Given the description of an element on the screen output the (x, y) to click on. 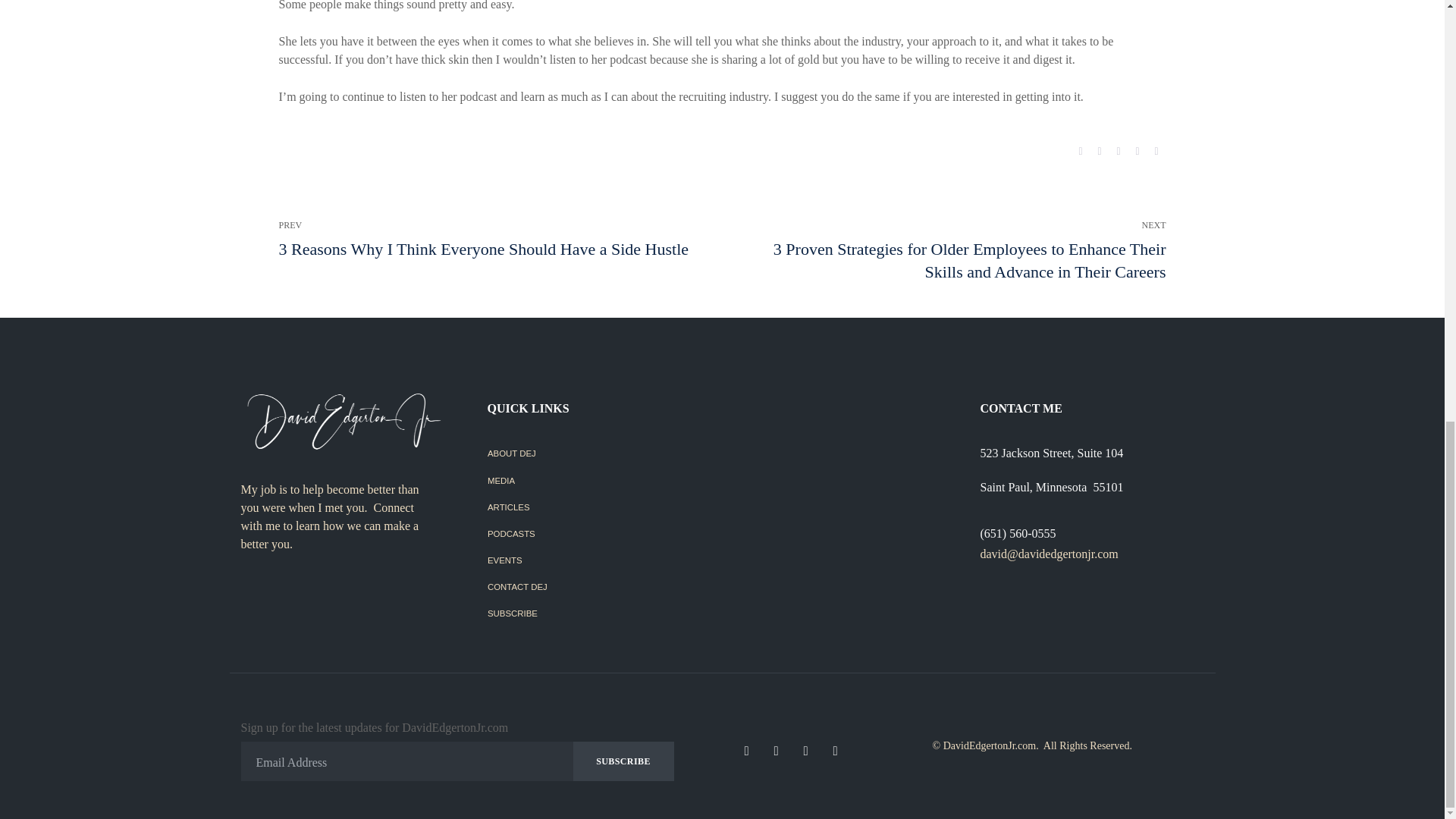
PREV (483, 239)
Subscribe (623, 761)
EVENTS (598, 561)
NEXT (959, 250)
MEDIA (598, 481)
ABOUT DEJ (598, 454)
CONTACT DEJ (598, 587)
Subscribe (623, 761)
PODCASTS (598, 534)
SUBSCRIBE (598, 614)
